Given the description of an element on the screen output the (x, y) to click on. 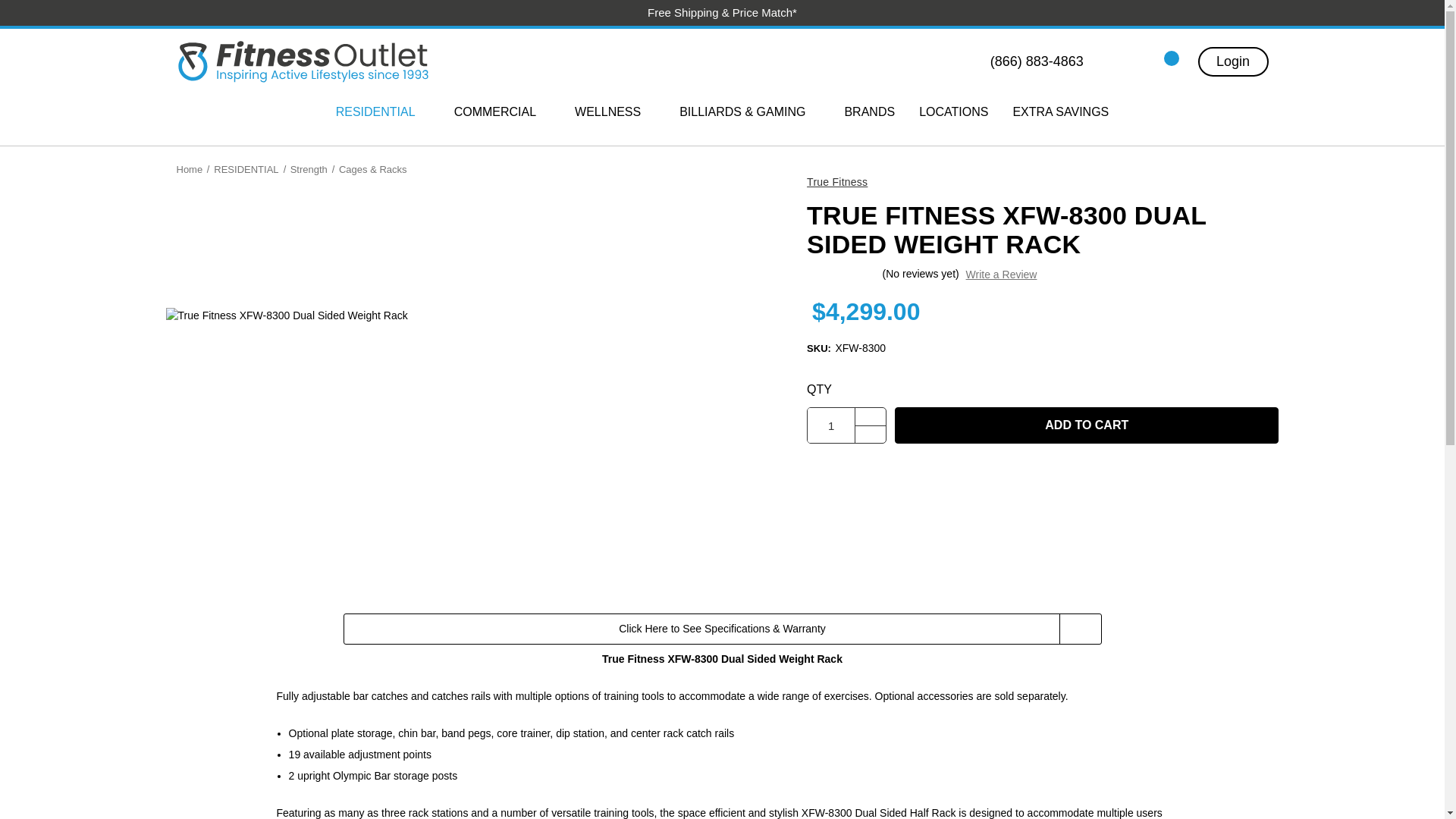
Login (1233, 61)
True Fitness XFW-8300 Dual Sided Weight Rack (469, 315)
Add to Cart (1086, 425)
1 (832, 425)
RESIDENTIAL (382, 112)
Facebook Likes Since 1993. TheFitnessOutLet (844, 475)
